Given the description of an element on the screen output the (x, y) to click on. 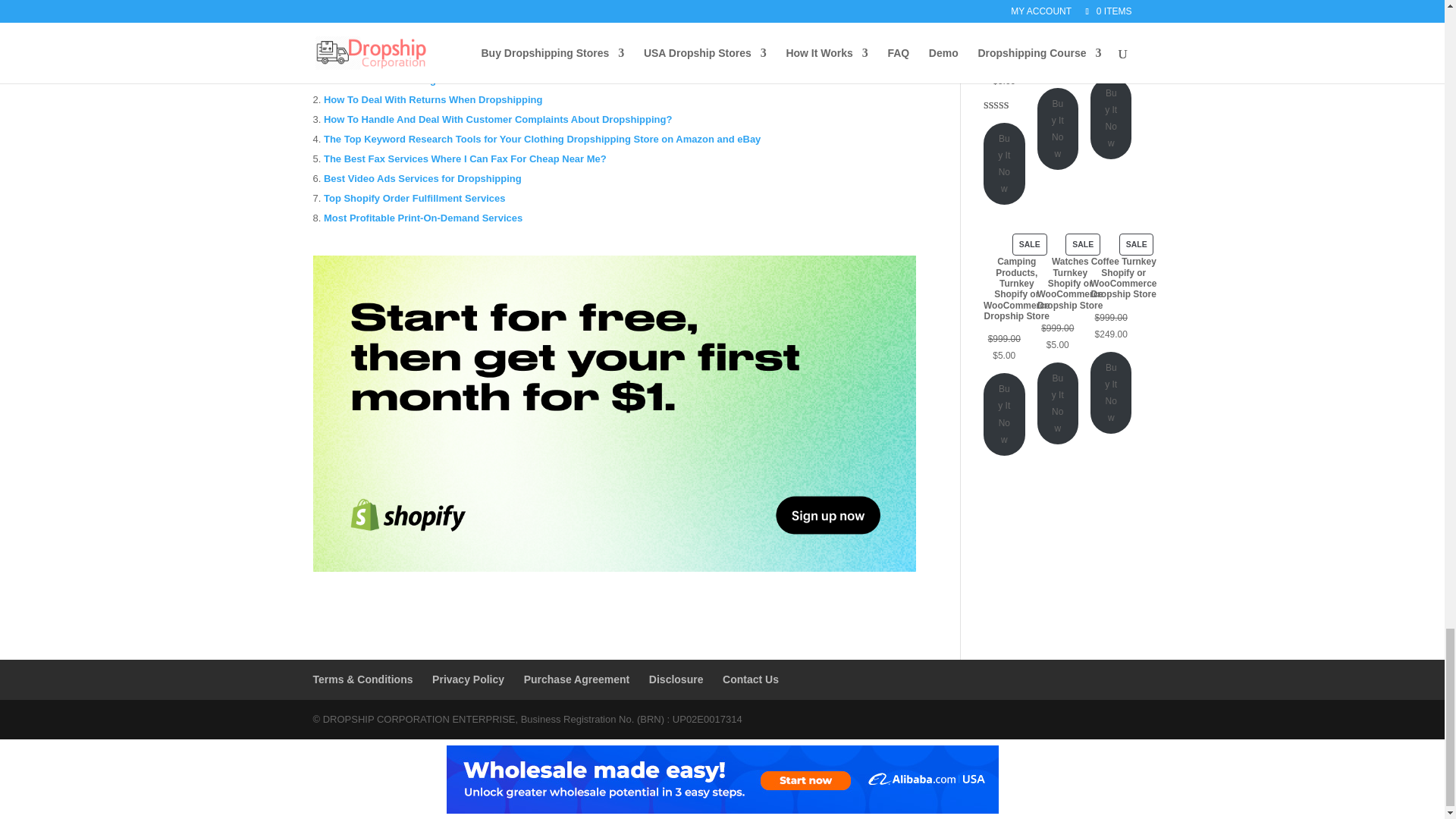
How to deal with having too much stock? (420, 79)
How To Deal With Returns When Dropshipping (433, 99)
Best Video Ads Services for Dropshipping (422, 178)
The Best Fax Services Where I Can Fax For Cheap Near Me? (465, 158)
Top Shopify Order Fulfillment Services (414, 197)
Most Profitable Print-On-Demand Services (422, 217)
